Given the description of an element on the screen output the (x, y) to click on. 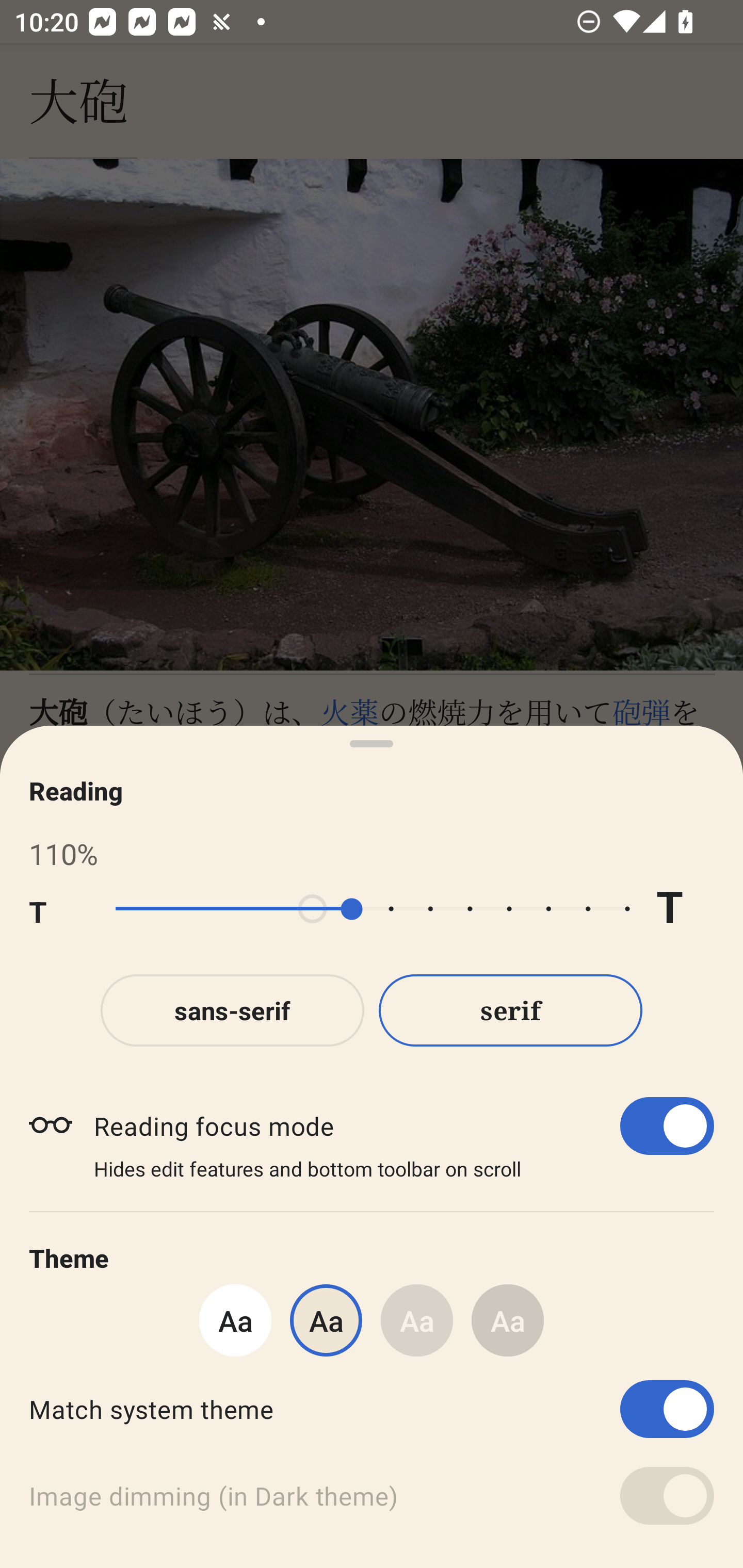
T Decrease text size (57, 909)
T Increase text size (685, 909)
sans-serif (232, 1010)
serif (510, 1010)
Reading focus mode (403, 1125)
Aa (235, 1320)
Aa (416, 1320)
Aa (507, 1320)
Match system theme (371, 1408)
Image dimming (in Dark theme) (371, 1495)
